Given the description of an element on the screen output the (x, y) to click on. 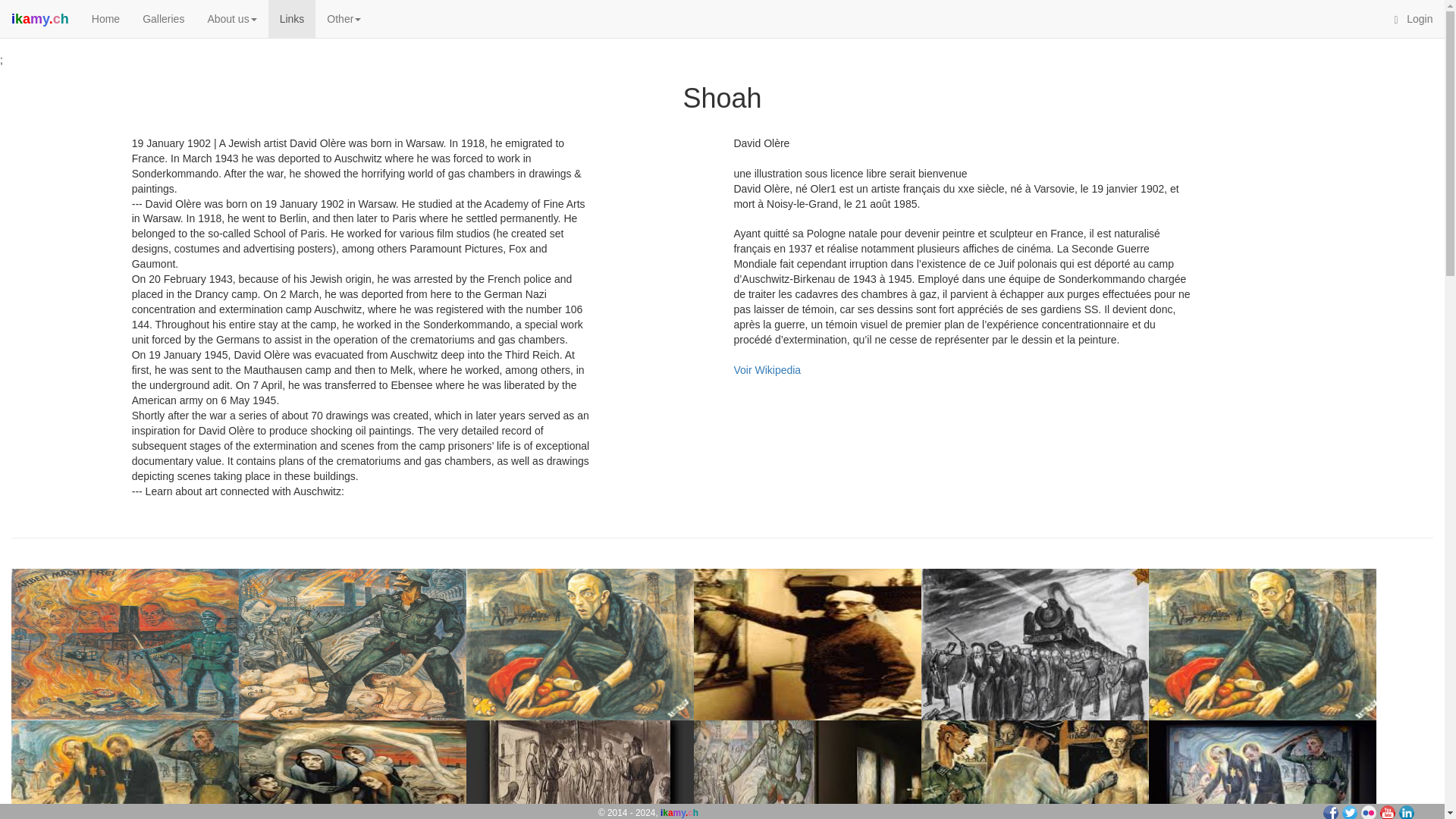
Galleries (163, 18)
Other (343, 18)
Links (291, 18)
Voir Wikipedia (766, 369)
Home (105, 18)
ikamy.ch (40, 18)
About us (231, 18)
